Given the description of an element on the screen output the (x, y) to click on. 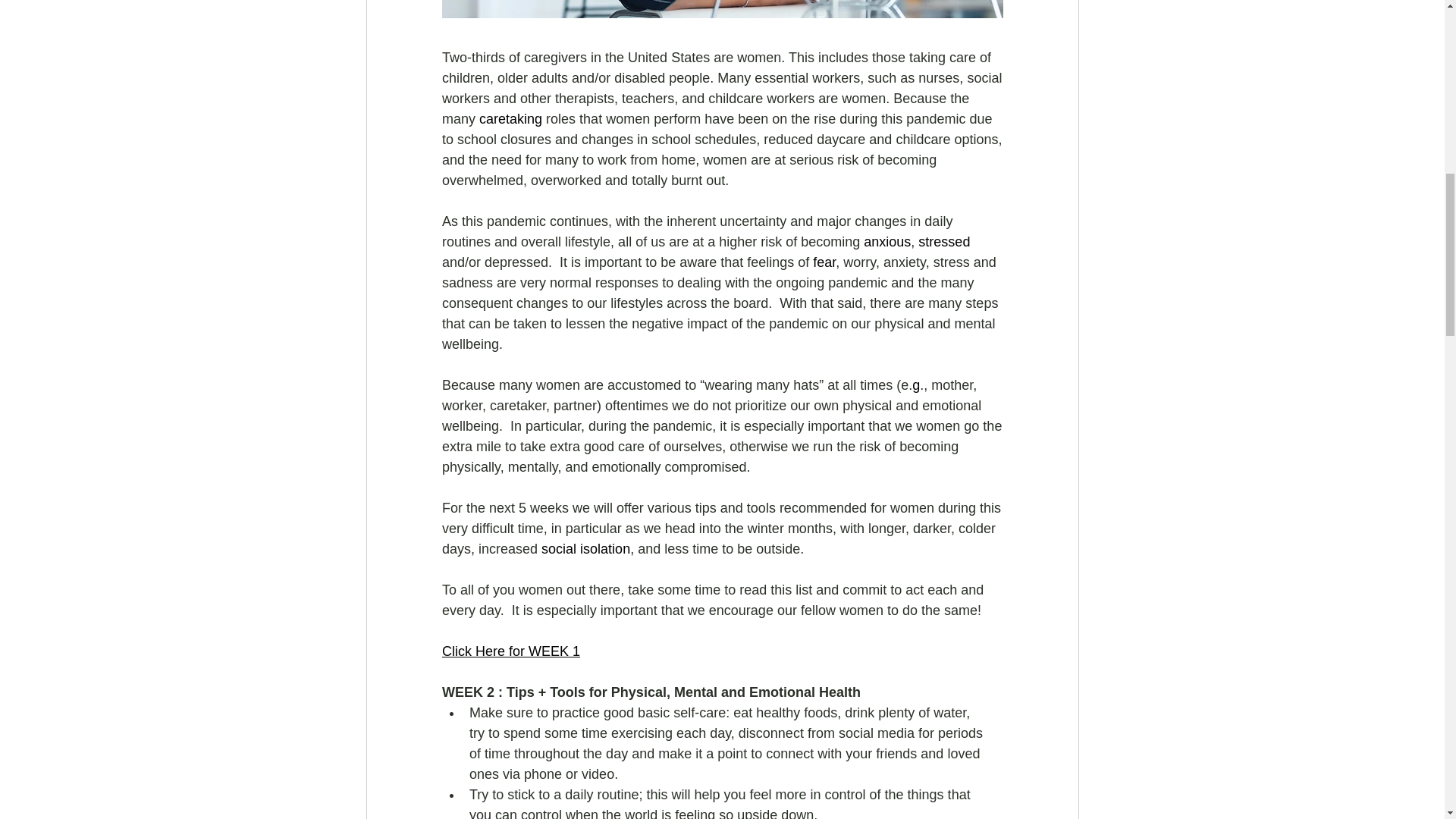
caretaking (510, 118)
social isolation (585, 548)
stressed (943, 241)
Click Here for WEEK 1 (510, 651)
anxious (887, 241)
fear (823, 262)
